Given the description of an element on the screen output the (x, y) to click on. 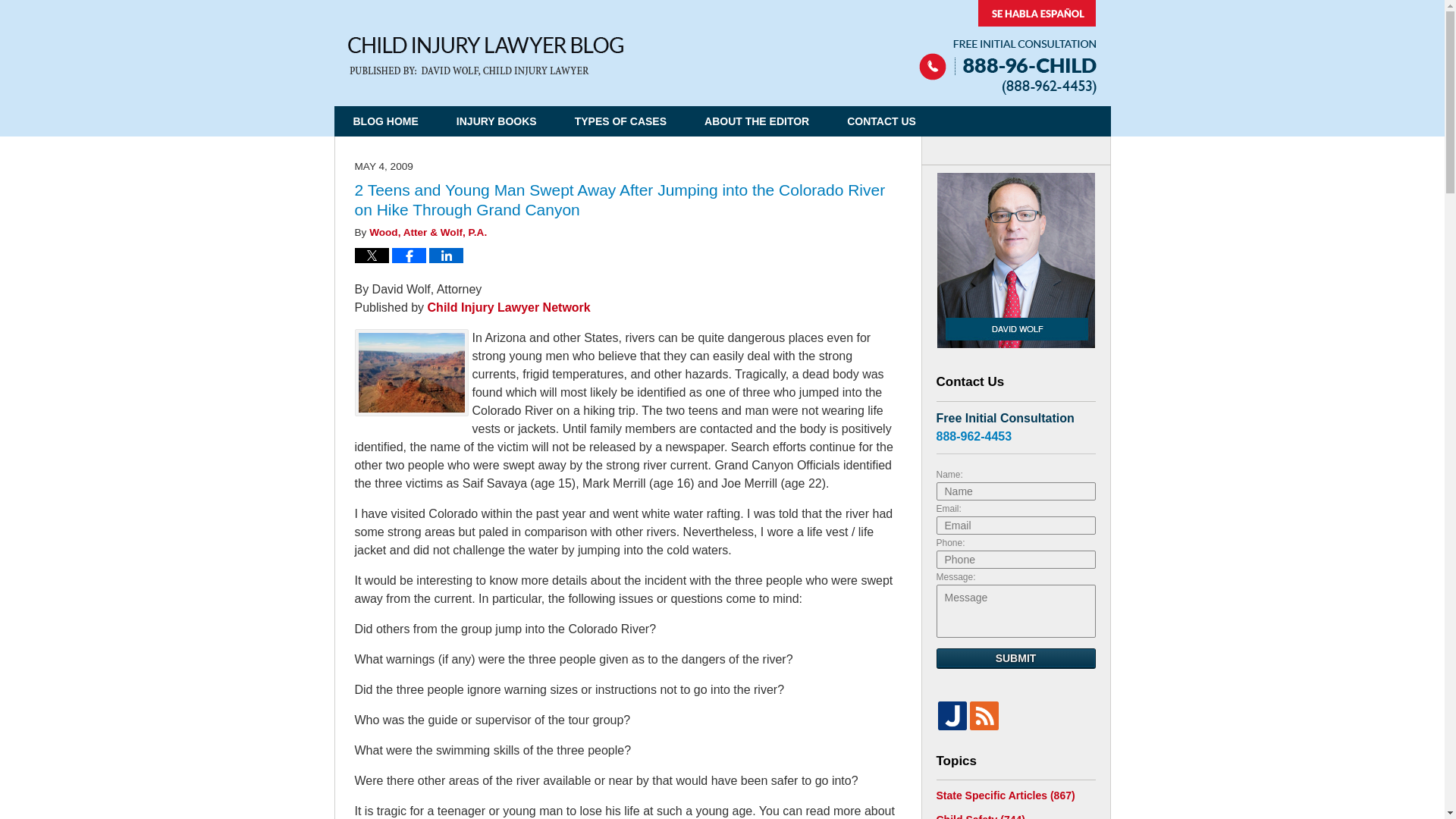
INJURY BOOKS (497, 121)
ABOUT THE EDITOR (756, 121)
Published By Child Injury Lawyer Network (1007, 47)
Justia (952, 715)
SUBMIT (1015, 657)
Child Injury Lawyer Network (509, 307)
TYPES OF CASES (620, 121)
Feed (983, 715)
CONTACT US (881, 121)
Child Injury Lawyer Blog (485, 56)
BLOG HOME (384, 121)
